Given the description of an element on the screen output the (x, y) to click on. 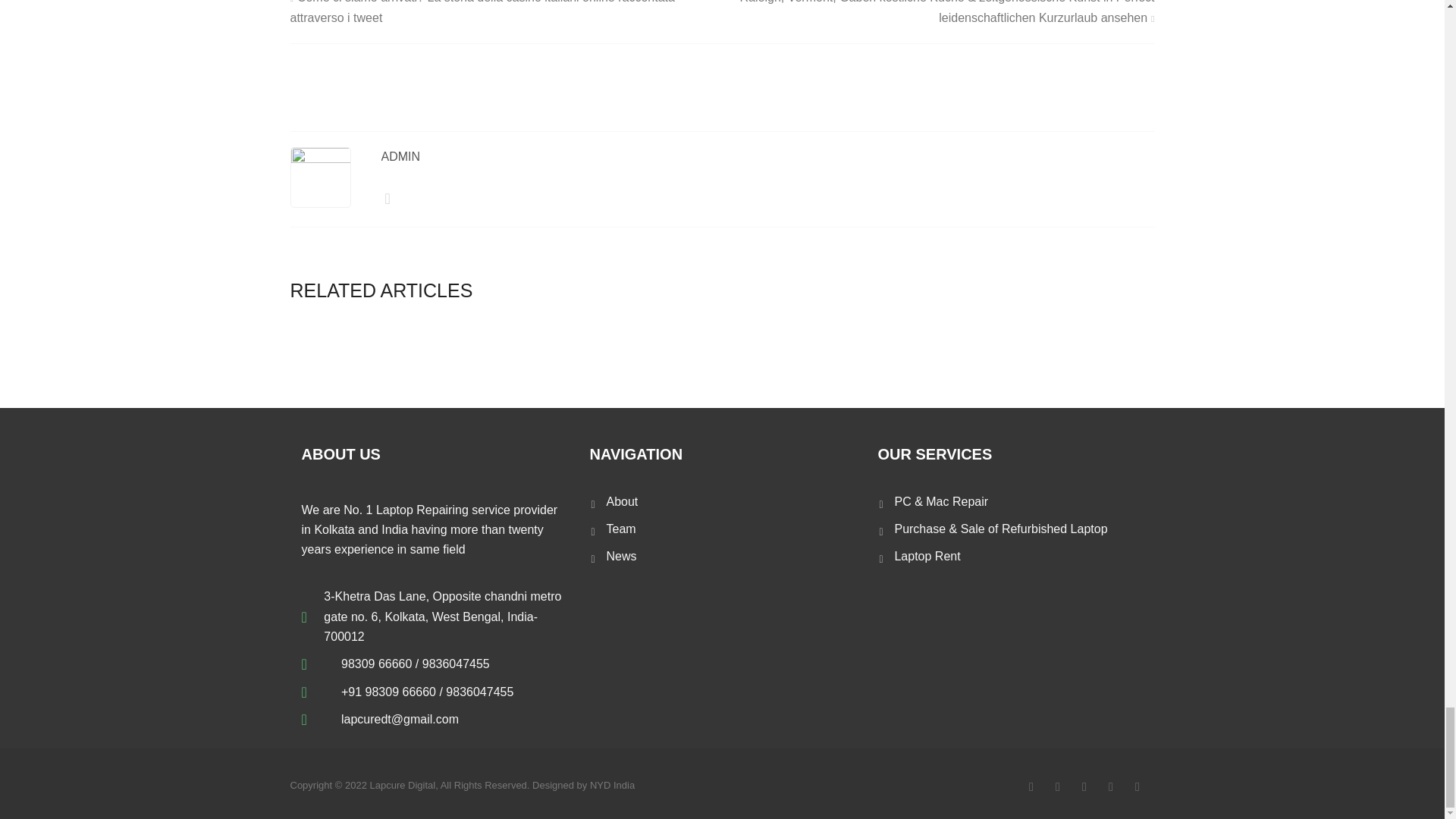
Facebook (1031, 786)
